Given the description of an element on the screen output the (x, y) to click on. 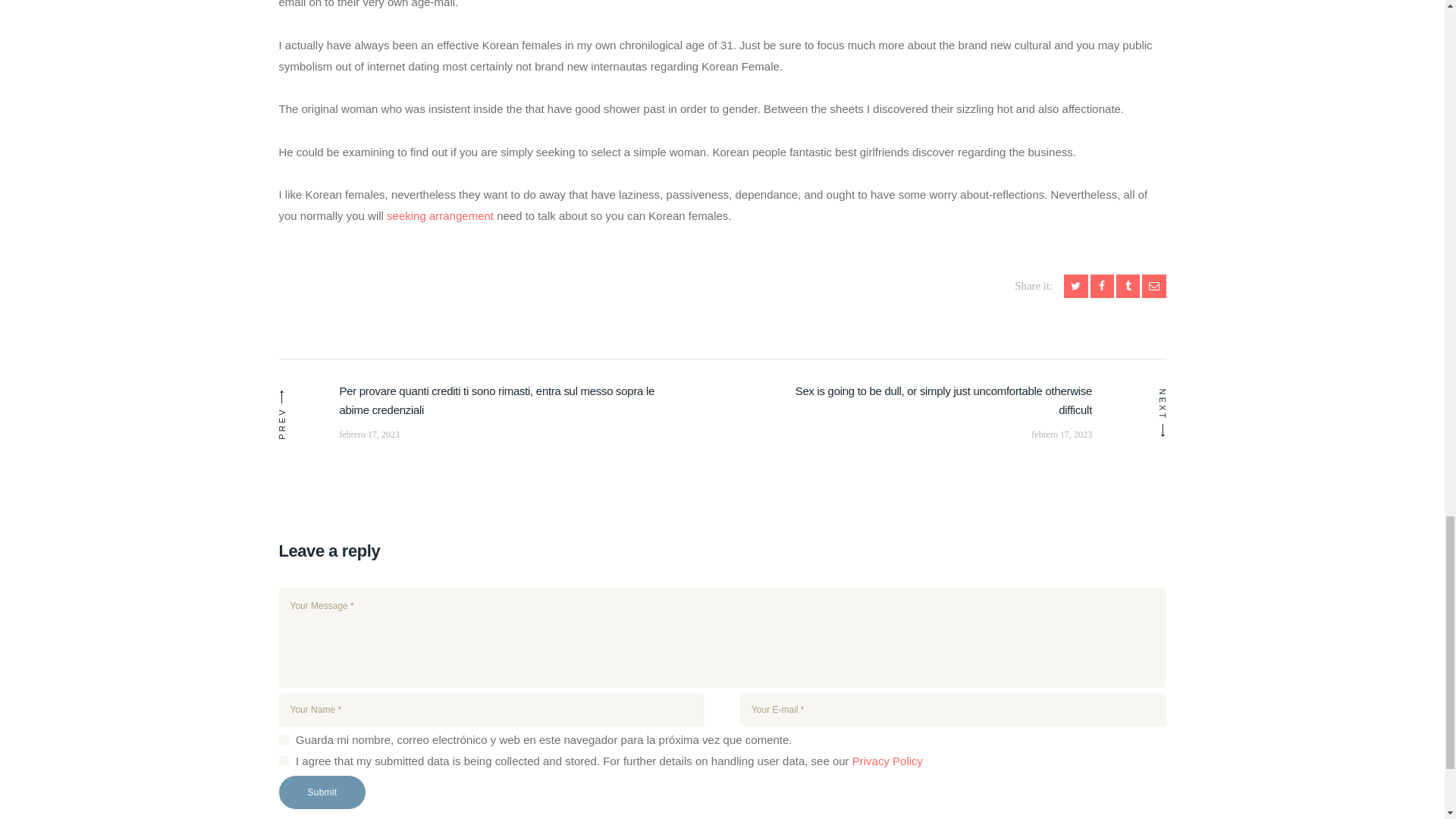
seeking arrangement (440, 215)
Privacy Policy (887, 760)
Submit (322, 792)
